Given the description of an element on the screen output the (x, y) to click on. 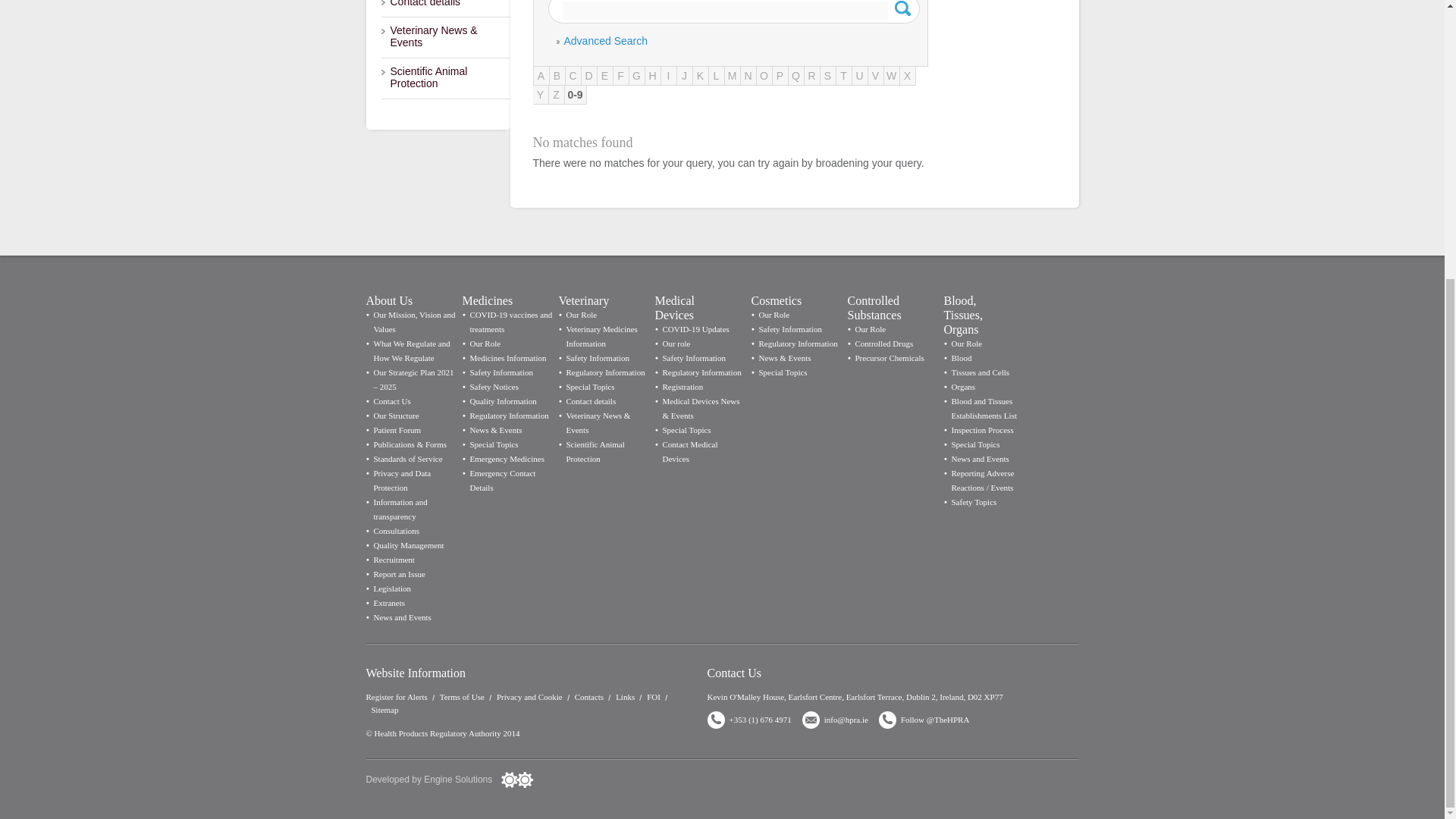
Contact details (444, 8)
Contact details (444, 8)
Scientific Animal Protection (444, 78)
